Given the description of an element on the screen output the (x, y) to click on. 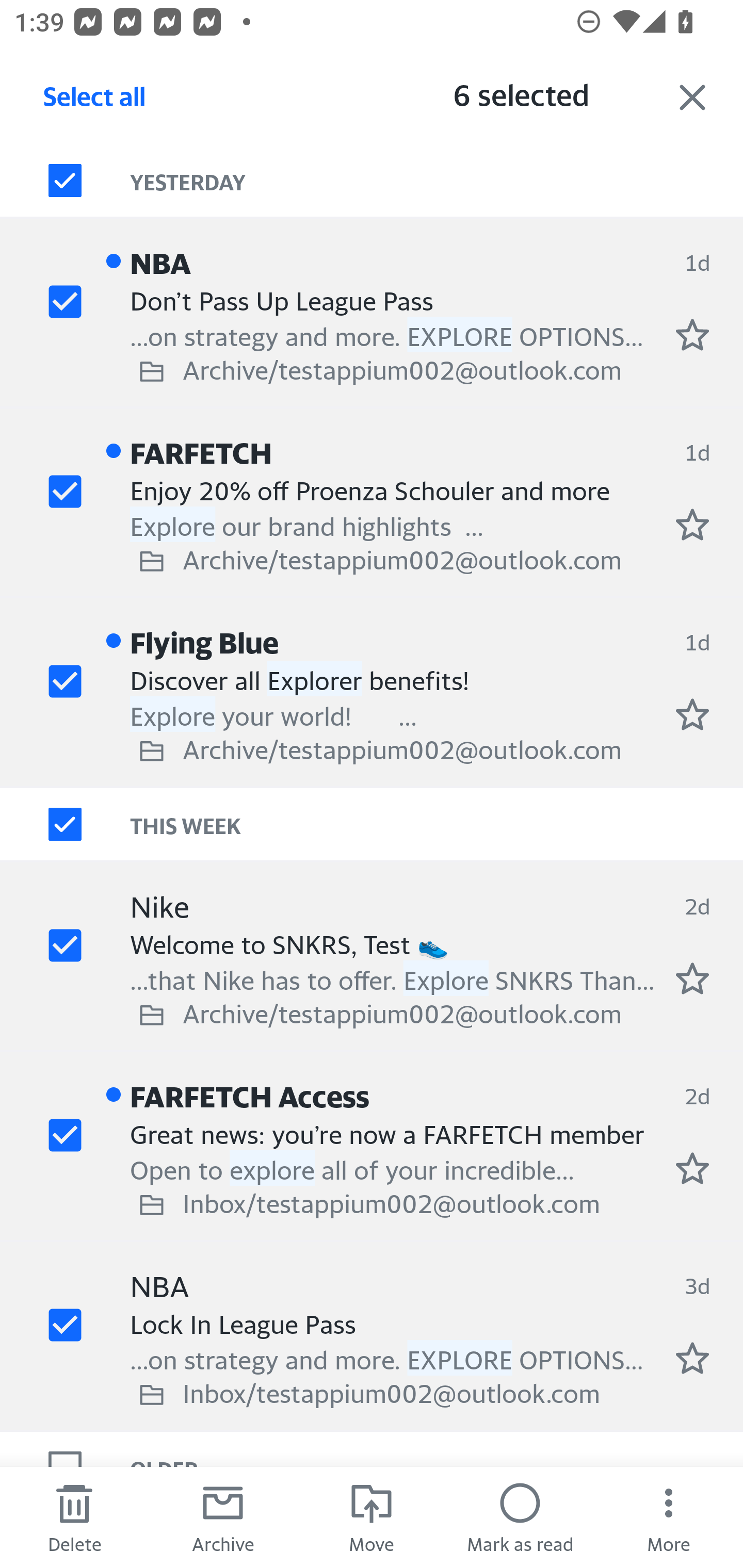
Exit selection mode (692, 97)
Select all (94, 101)
YESTERDAY (436, 180)
Mark as starred. (692, 334)
Mark as starred. (692, 524)
Mark as starred. (692, 714)
THIS WEEK (436, 823)
Mark as starred. (692, 978)
Mark as starred. (692, 1168)
Mark as starred. (692, 1358)
Delete (74, 1517)
Archive (222, 1517)
Move (371, 1517)
Mark as read (519, 1517)
More (668, 1517)
